Given the description of an element on the screen output the (x, y) to click on. 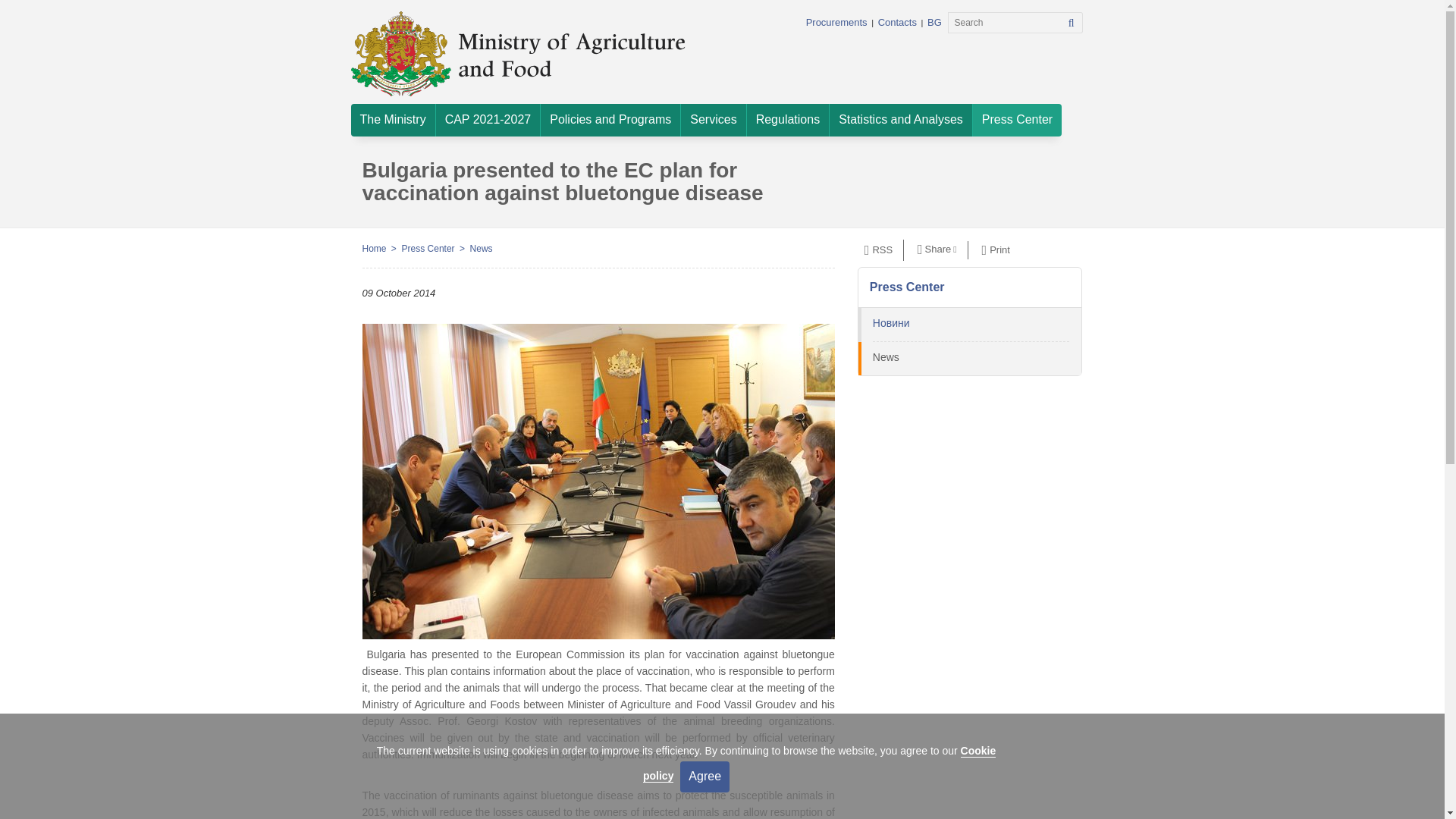
Services (713, 120)
Press Center (1016, 120)
Regulations (787, 120)
The Ministry (391, 120)
Policies and Programs (609, 120)
Statistics and Analyses (900, 120)
CAP 2021-2027 (487, 120)
Procurements (836, 21)
BG (934, 21)
Contacts (897, 21)
Change to language: bg (934, 21)
